Given the description of an element on the screen output the (x, y) to click on. 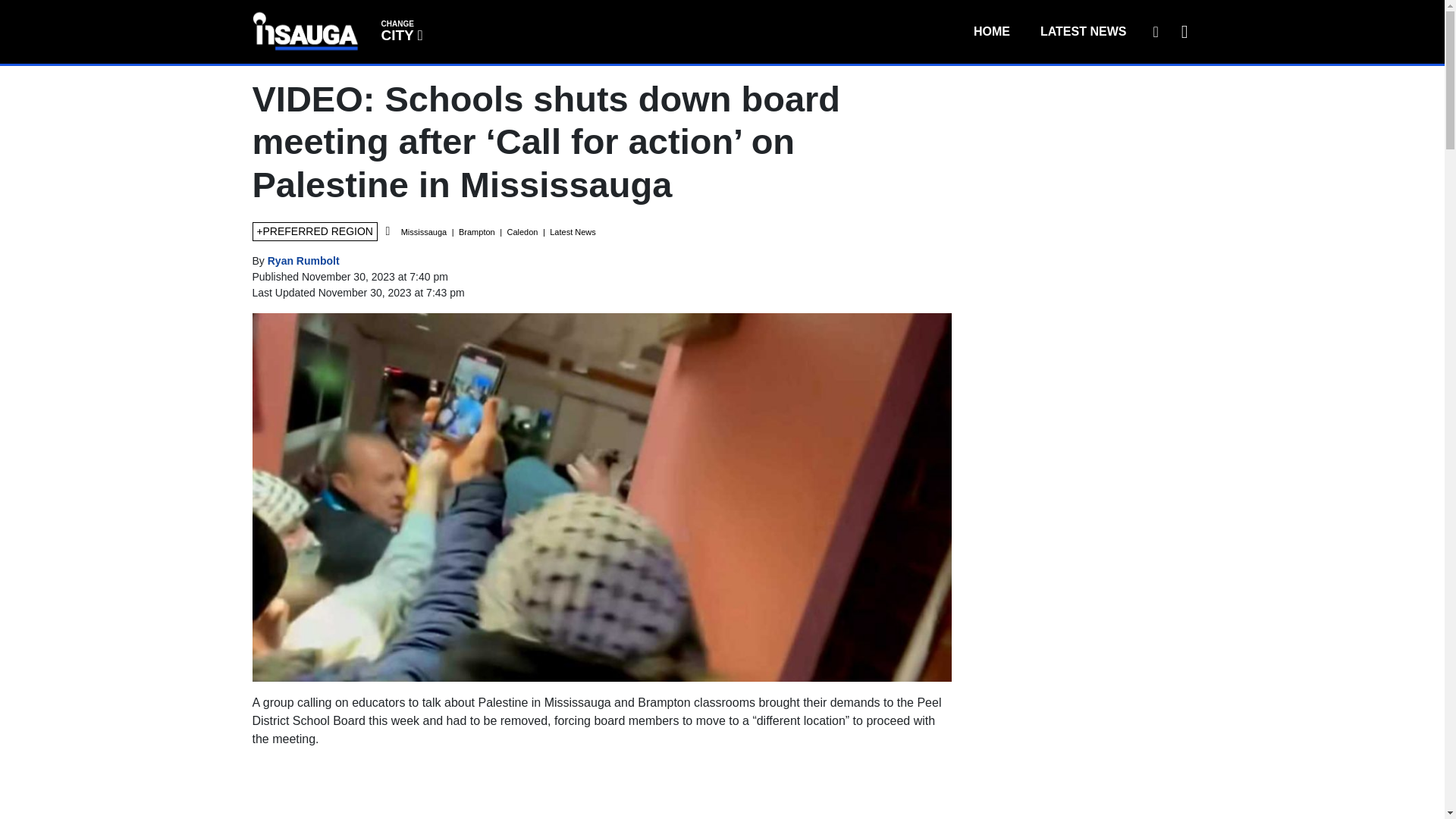
HOME (400, 30)
SIGN UP FOR OUR NEWSLETTER (991, 31)
Posts by 956 (1155, 31)
LATEST NEWS (303, 260)
